Given the description of an element on the screen output the (x, y) to click on. 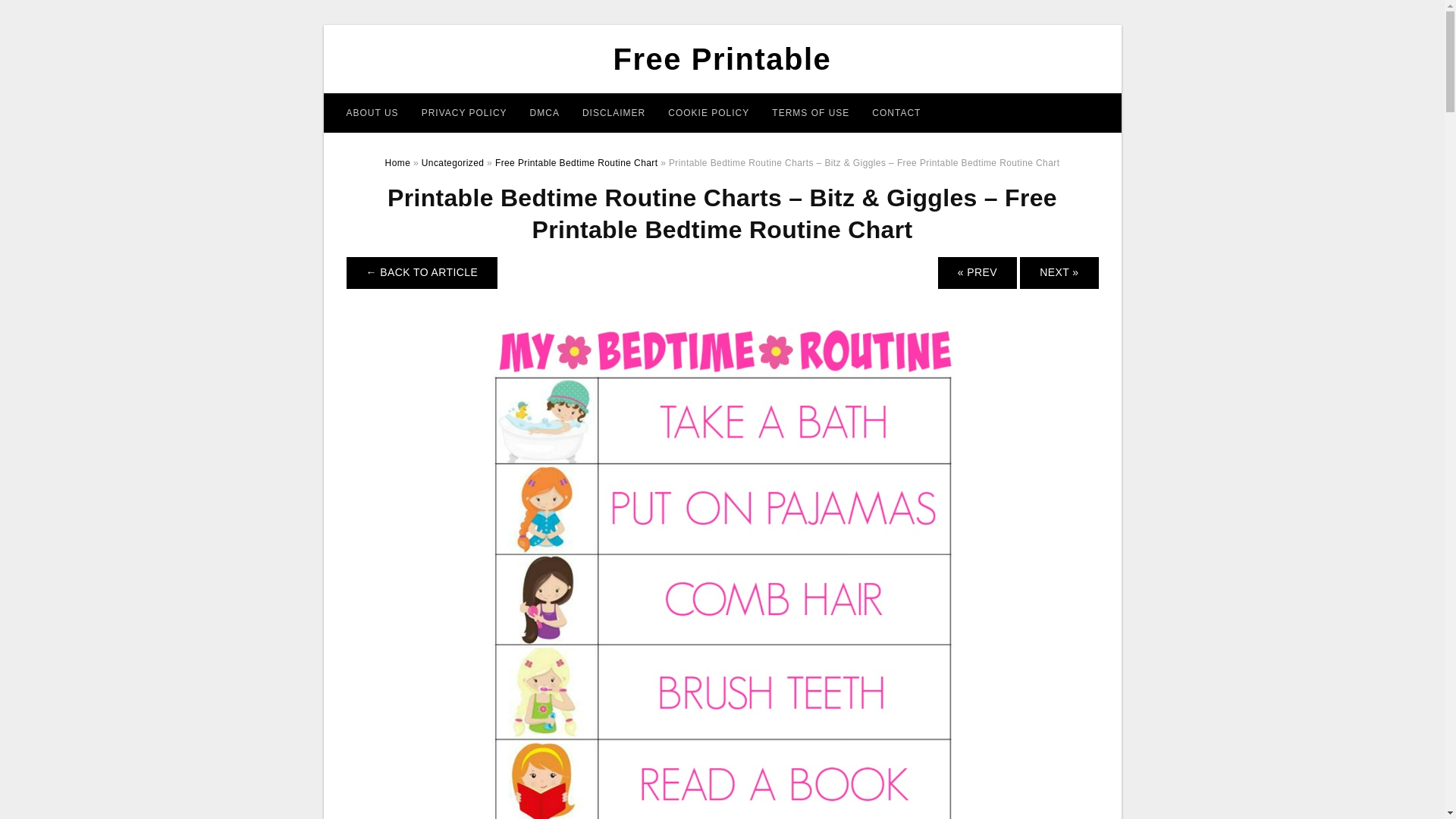
COOKIE POLICY (708, 112)
Home (397, 163)
Free Printable (721, 59)
CONTACT (895, 112)
Return to Free Printable Bedtime Routine Chart (421, 272)
PRIVACY POLICY (464, 112)
Free Printable Bedtime Routine Chart (576, 163)
Uncategorized (453, 163)
DMCA (544, 112)
